Given the description of an element on the screen output the (x, y) to click on. 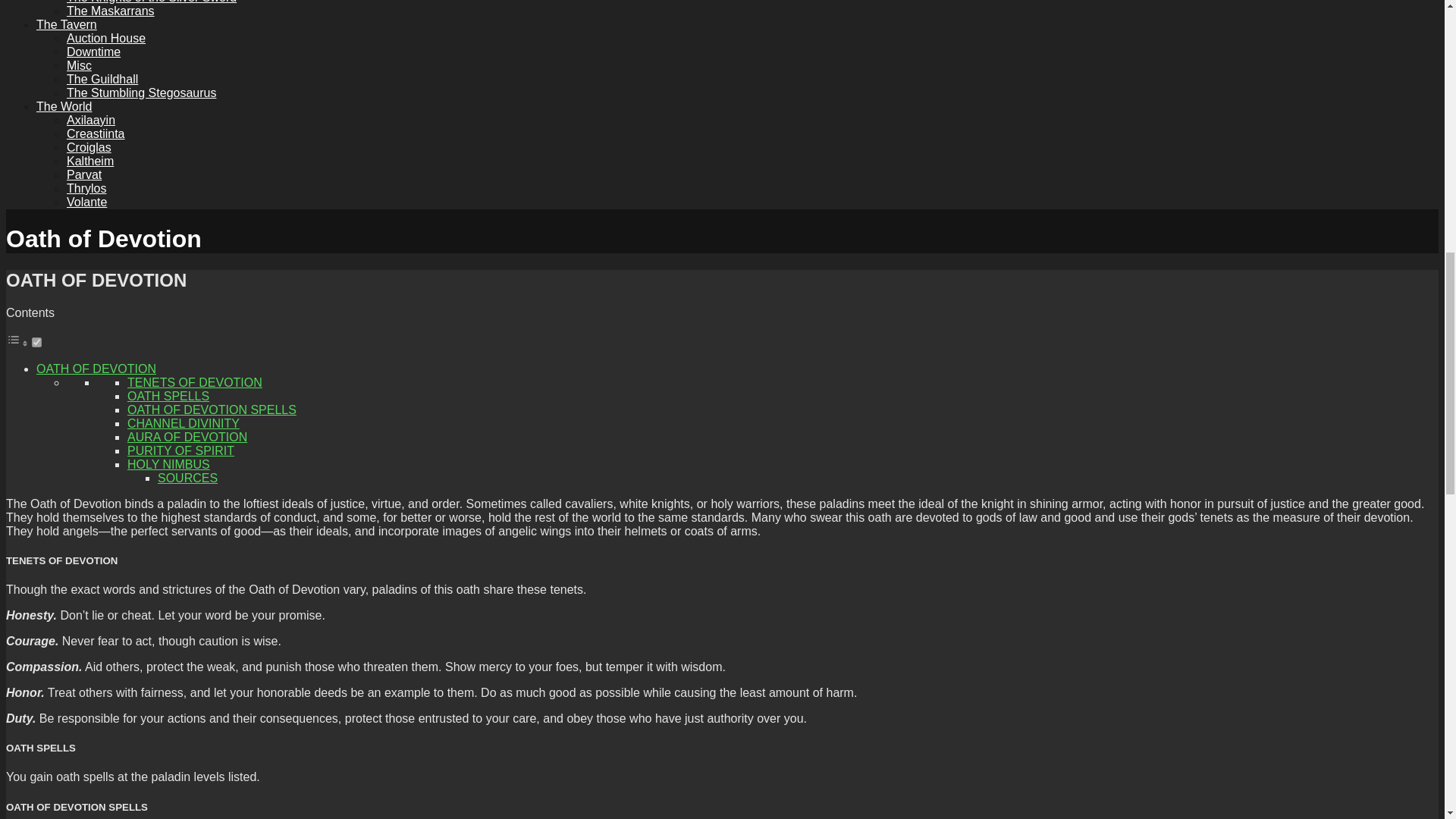
SOURCES (186, 477)
TENETS OF DEVOTION (195, 382)
OATH SPELLS (168, 395)
PURITY OF SPIRIT (181, 450)
CHANNEL DIVINITY (184, 422)
HOLY NIMBUS (168, 463)
OATH OF DEVOTION (95, 368)
on (37, 342)
AURA OF DEVOTION (187, 436)
OATH OF DEVOTION SPELLS (212, 409)
